Given the description of an element on the screen output the (x, y) to click on. 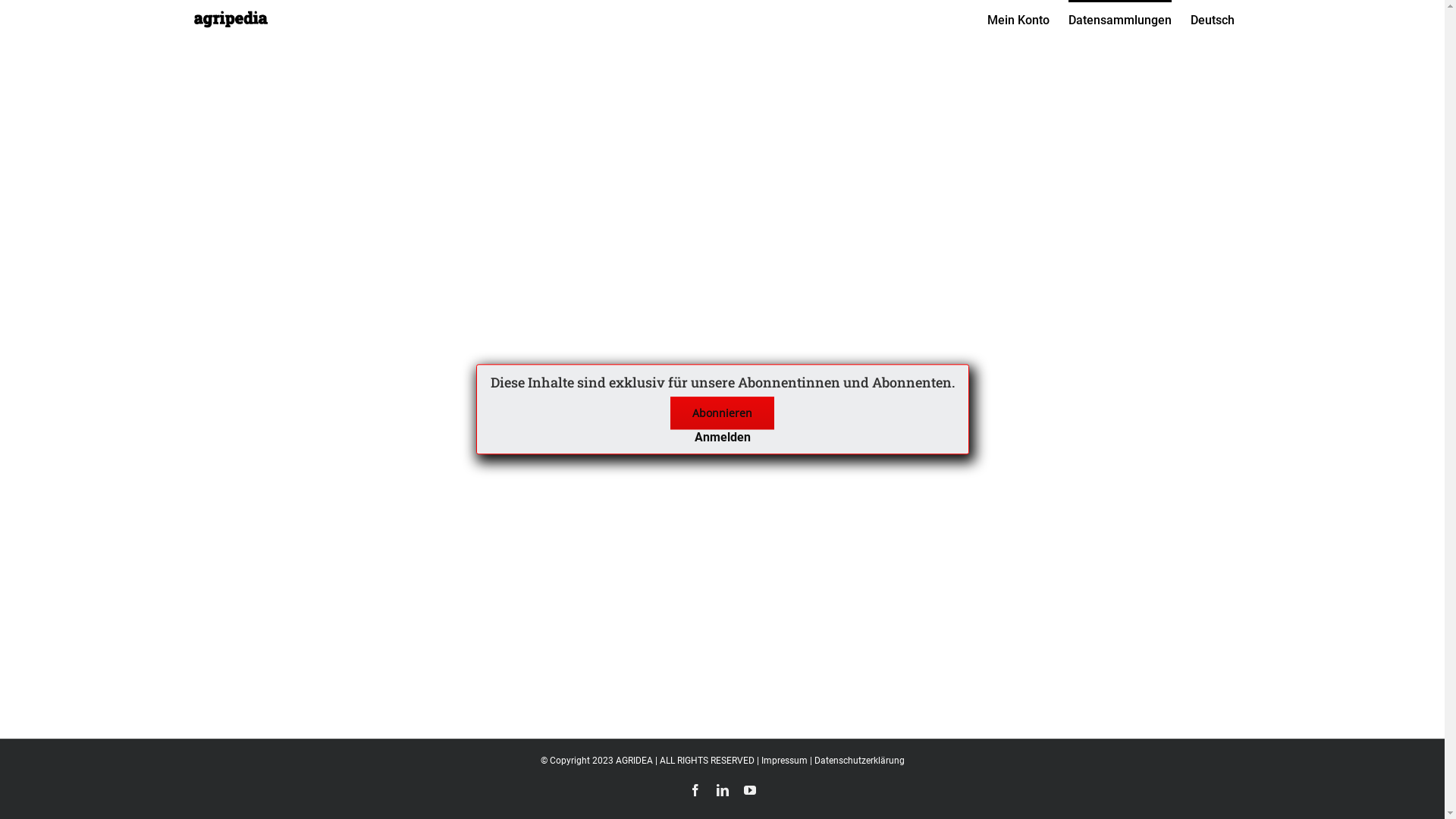
Facebook Element type: text (694, 790)
AGRIDEA Element type: text (633, 760)
Datensammlungen Element type: text (1118, 18)
Abonnieren Element type: text (722, 412)
Impressum Element type: text (784, 760)
Mein Konto Element type: text (1018, 18)
LinkedIn Element type: text (721, 790)
Deutsch Element type: text (1212, 18)
YouTube Element type: text (749, 790)
Anmelden Element type: text (722, 436)
